Given the description of an element on the screen output the (x, y) to click on. 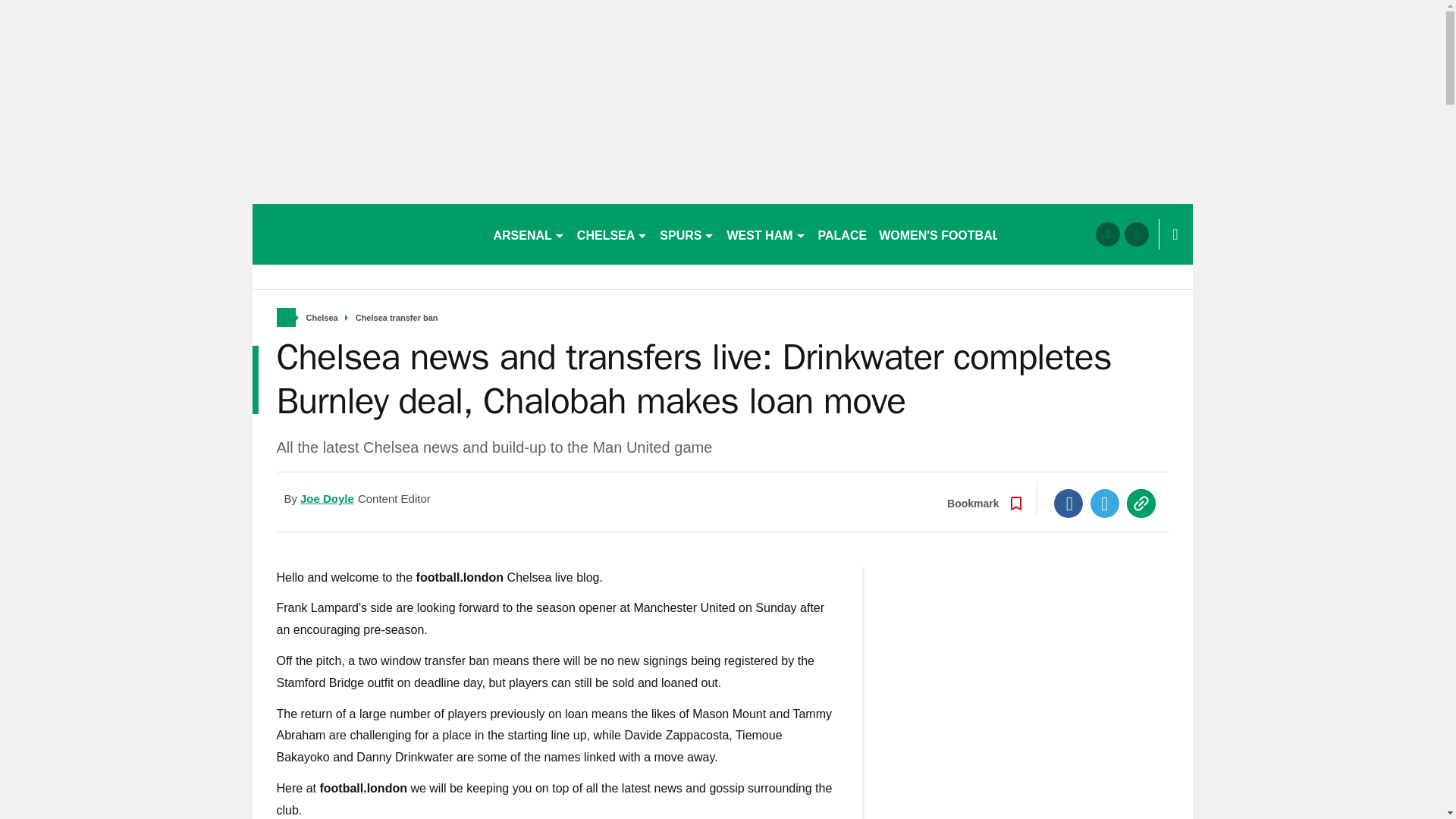
Twitter (1104, 502)
WOMEN'S FOOTBALL (942, 233)
CHELSEA (611, 233)
footballlondon (365, 233)
SPURS (686, 233)
twitter (1136, 233)
facebook (1106, 233)
Facebook (1068, 502)
ARSENAL (528, 233)
WEST HAM (765, 233)
PALACE (842, 233)
